Given the description of an element on the screen output the (x, y) to click on. 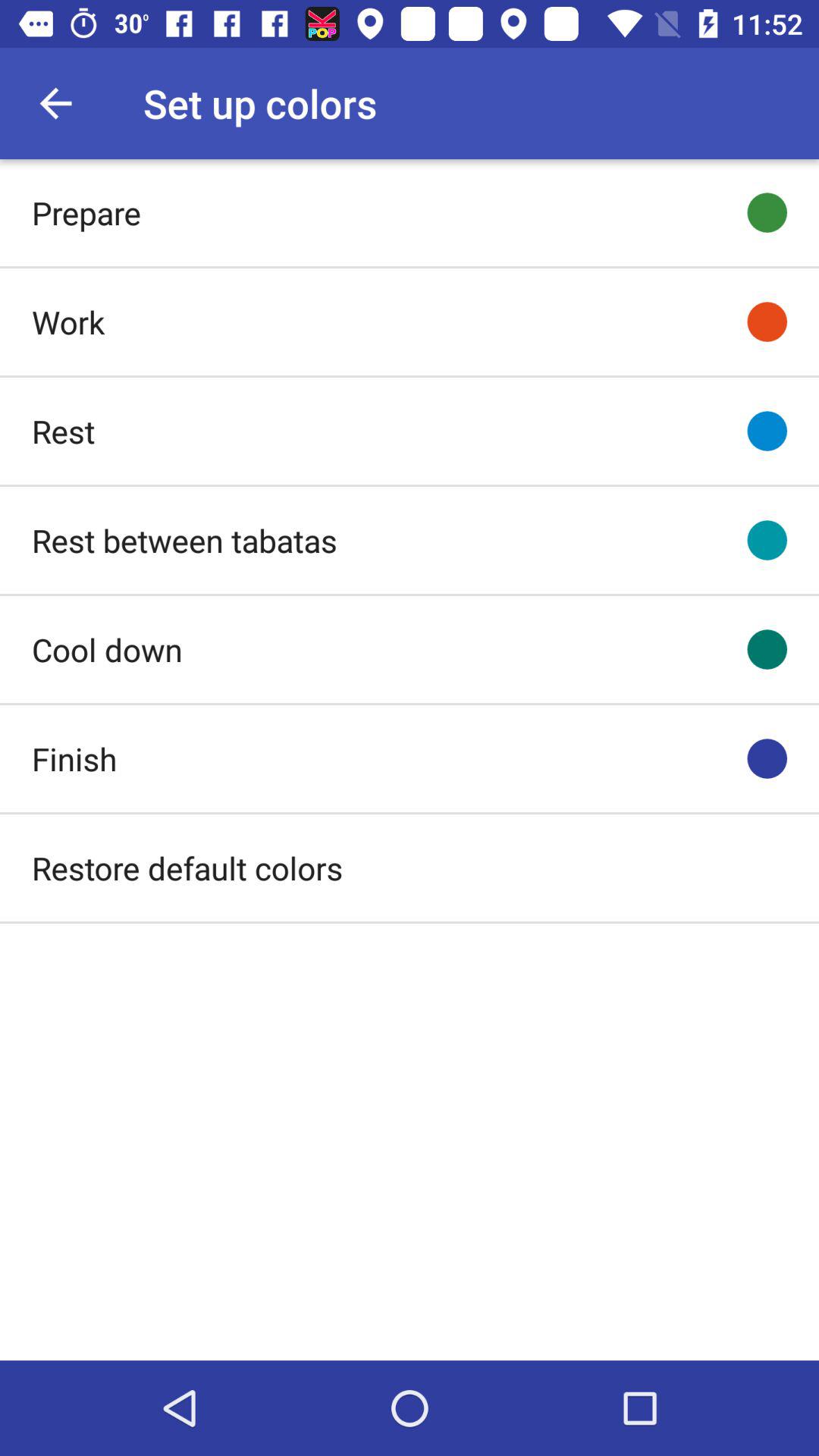
press icon to the right of finish item (767, 758)
